Given the description of an element on the screen output the (x, y) to click on. 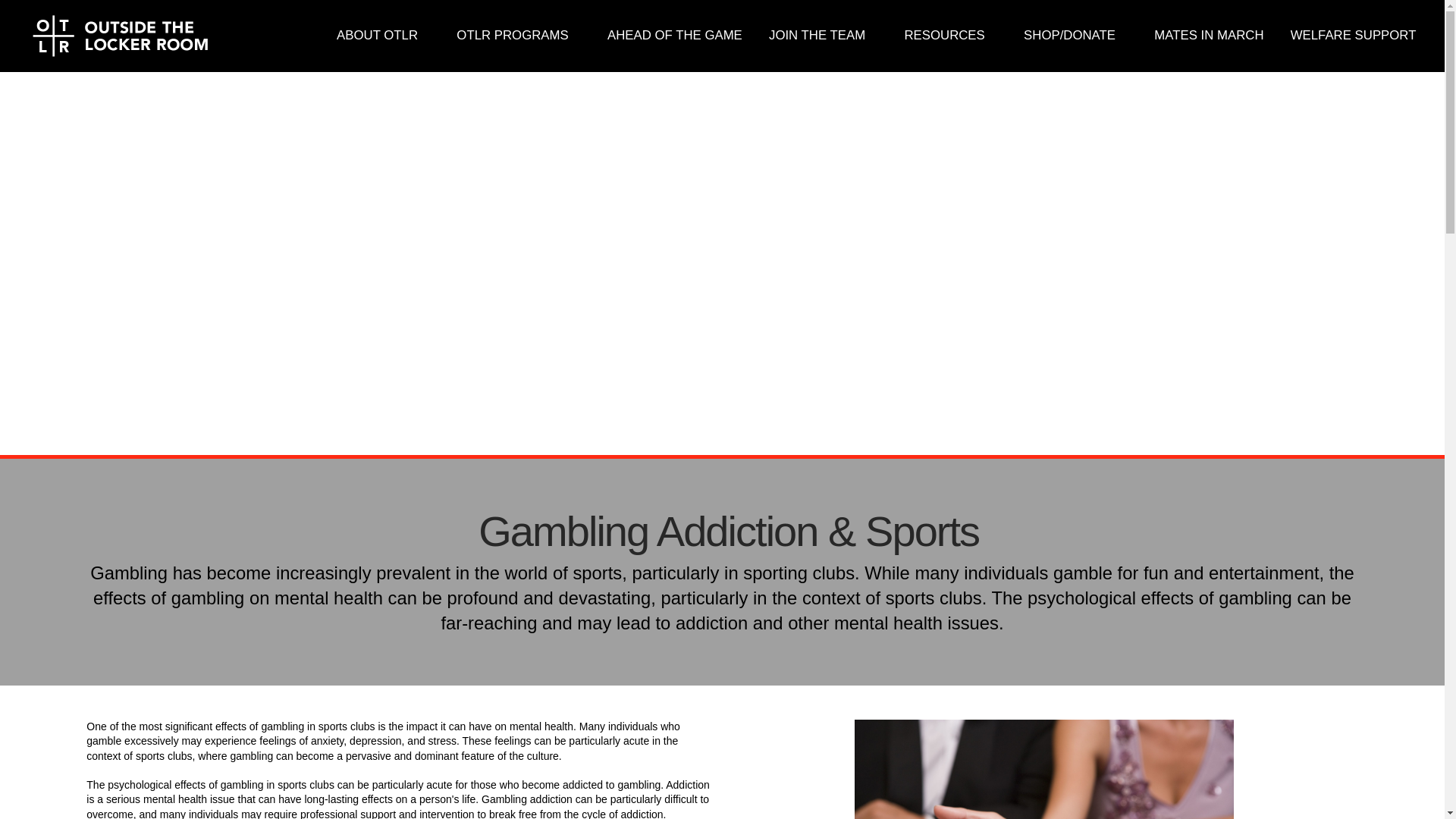
ABOUT OTLR (382, 36)
JOIN THE TEAM (822, 36)
OTLR PROGRAMS (519, 36)
MATES IN MARCH (1208, 36)
WELFARE SUPPORT (1352, 36)
AHEAD OF THE GAME (674, 36)
RESOURCES (950, 36)
